Given the description of an element on the screen output the (x, y) to click on. 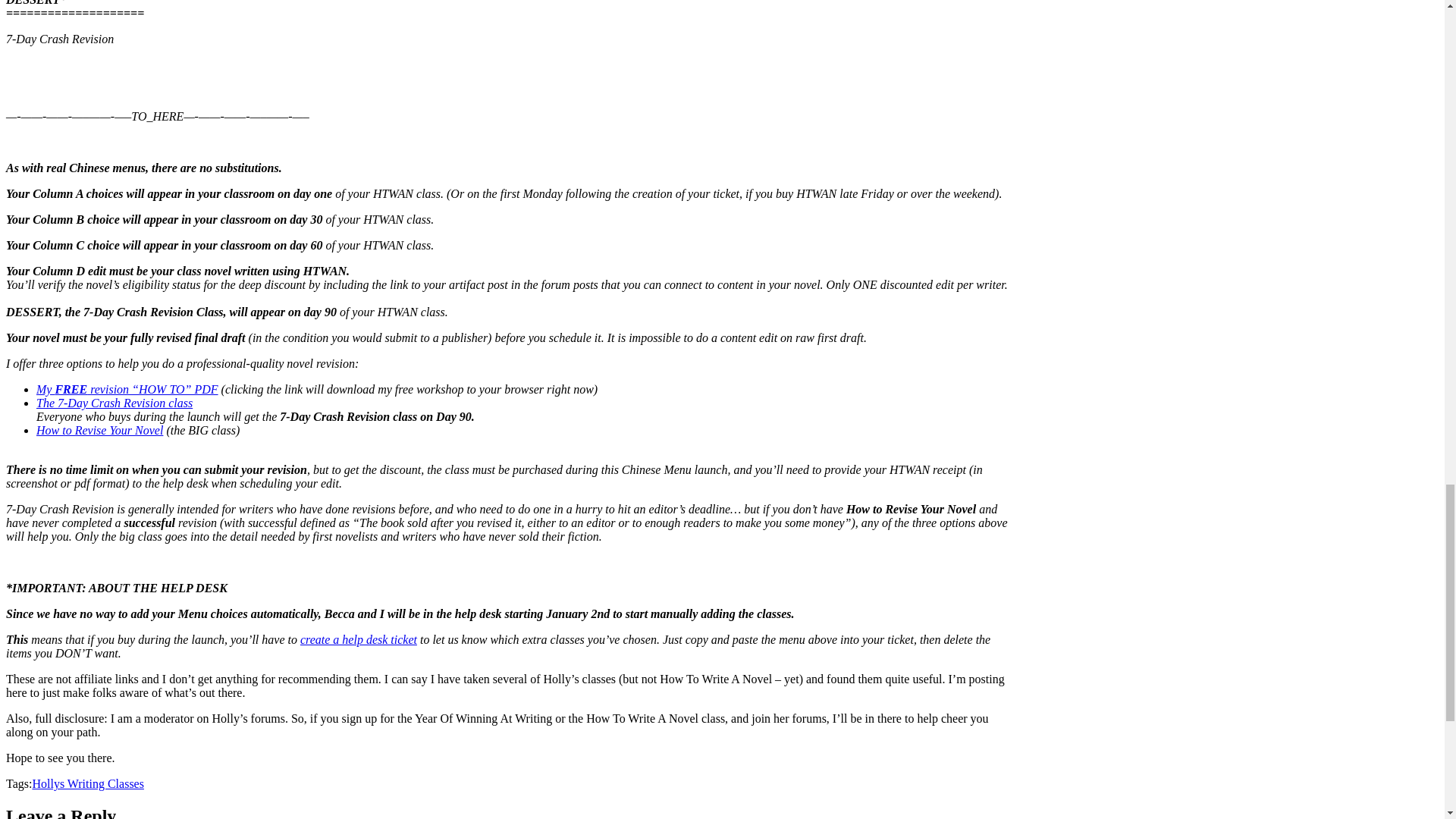
create a help desk ticket (357, 639)
Hollys Writing Classes (88, 783)
How to Revise Your Novel (99, 430)
Hollys Writing Classes (88, 783)
The 7-Day Crash Revision class (114, 402)
